Given the description of an element on the screen output the (x, y) to click on. 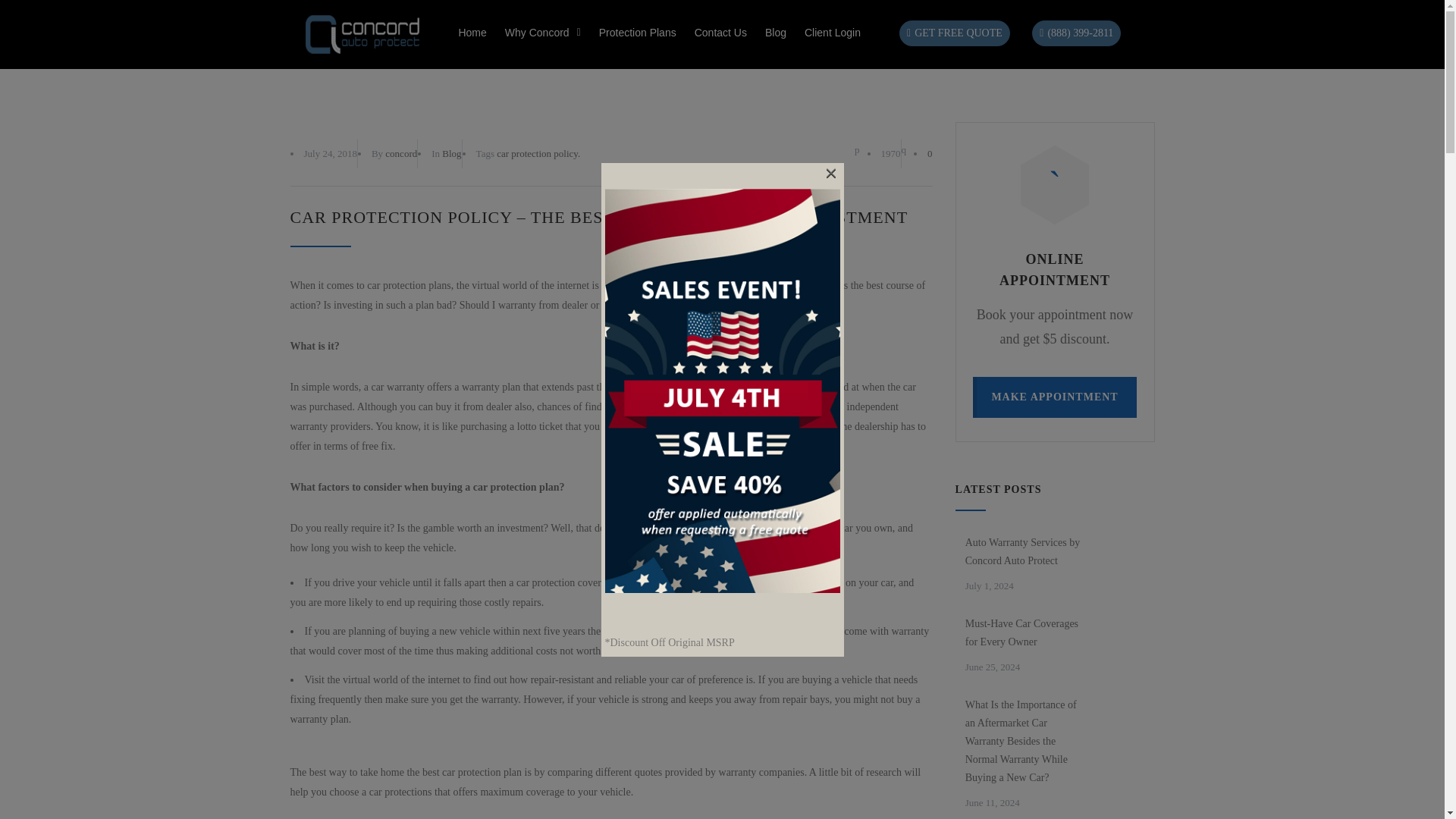
Blog (774, 32)
Auto Warranty Services by Concord Auto Protect (1025, 551)
Must-Have Car Coverages for Every Owner (1025, 633)
Home (471, 32)
Must-Have Car Coverages for Every Owner (1025, 633)
concord (400, 153)
Contact Us (720, 32)
GET FREE QUOTE (954, 32)
car protection policy. (537, 153)
View all posts filed under car protection policy. (537, 153)
Auto Warranty Services by Concord Auto Protect (1025, 551)
concord (400, 153)
View all posts filed under Blog (451, 153)
